Given the description of an element on the screen output the (x, y) to click on. 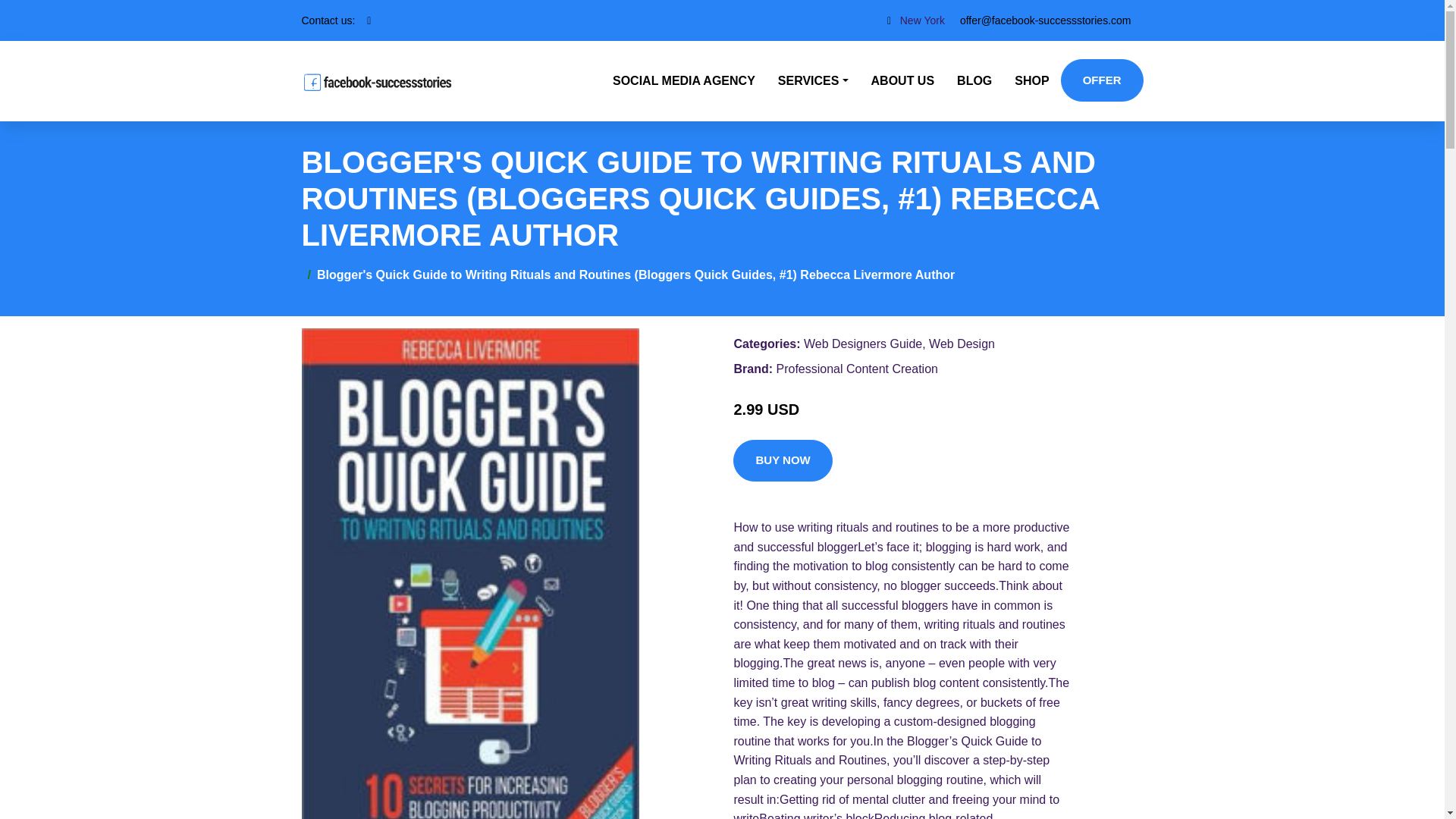
Web Design (961, 343)
BUY NOW (782, 460)
Web Designers Guide (862, 343)
OFFER (1101, 79)
ABOUT US (903, 80)
SERVICES (813, 80)
New York (921, 20)
SOCIAL MEDIA AGENCY (684, 80)
